Given the description of an element on the screen output the (x, y) to click on. 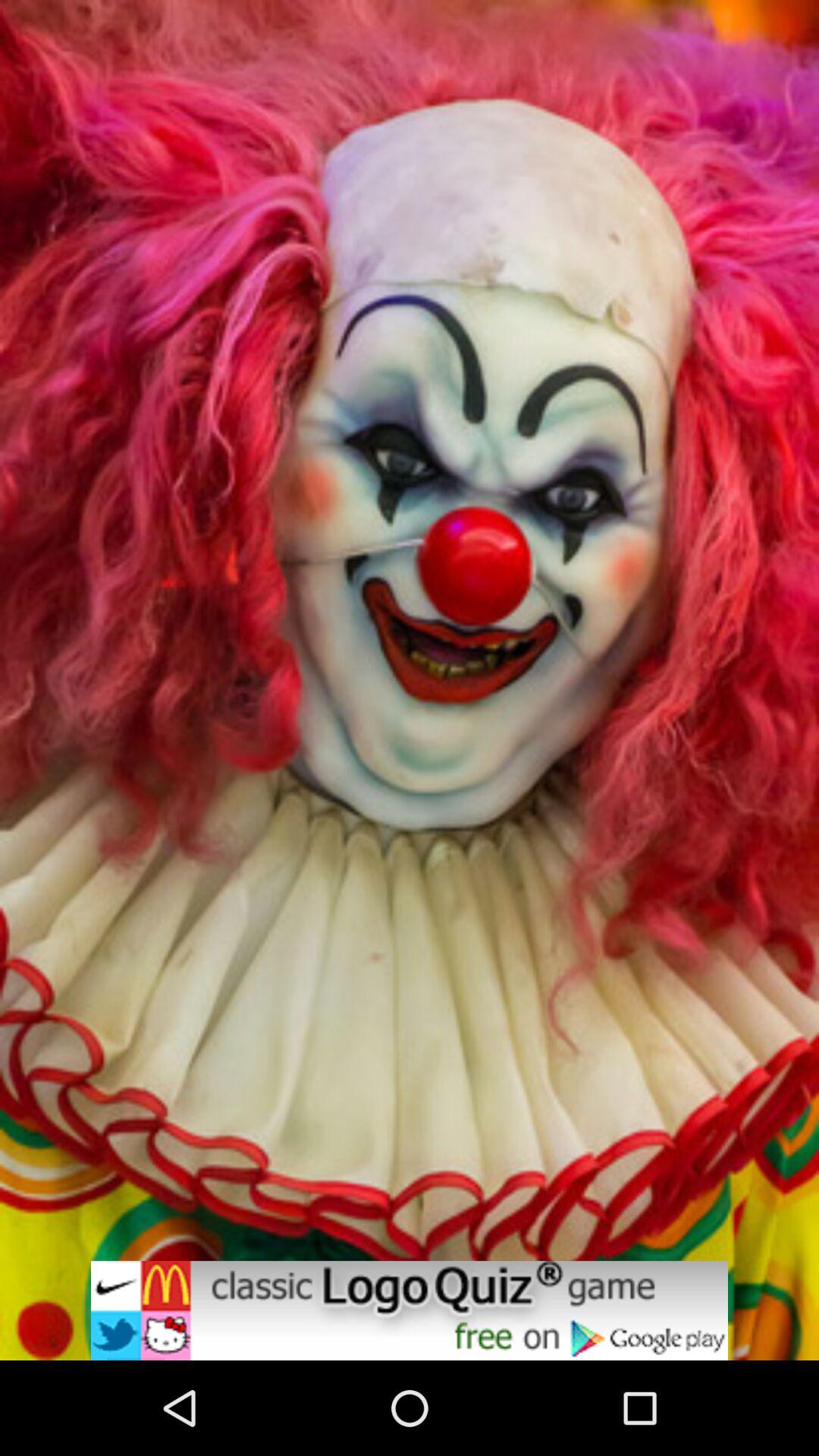
advertisement (409, 1310)
